Given the description of an element on the screen output the (x, y) to click on. 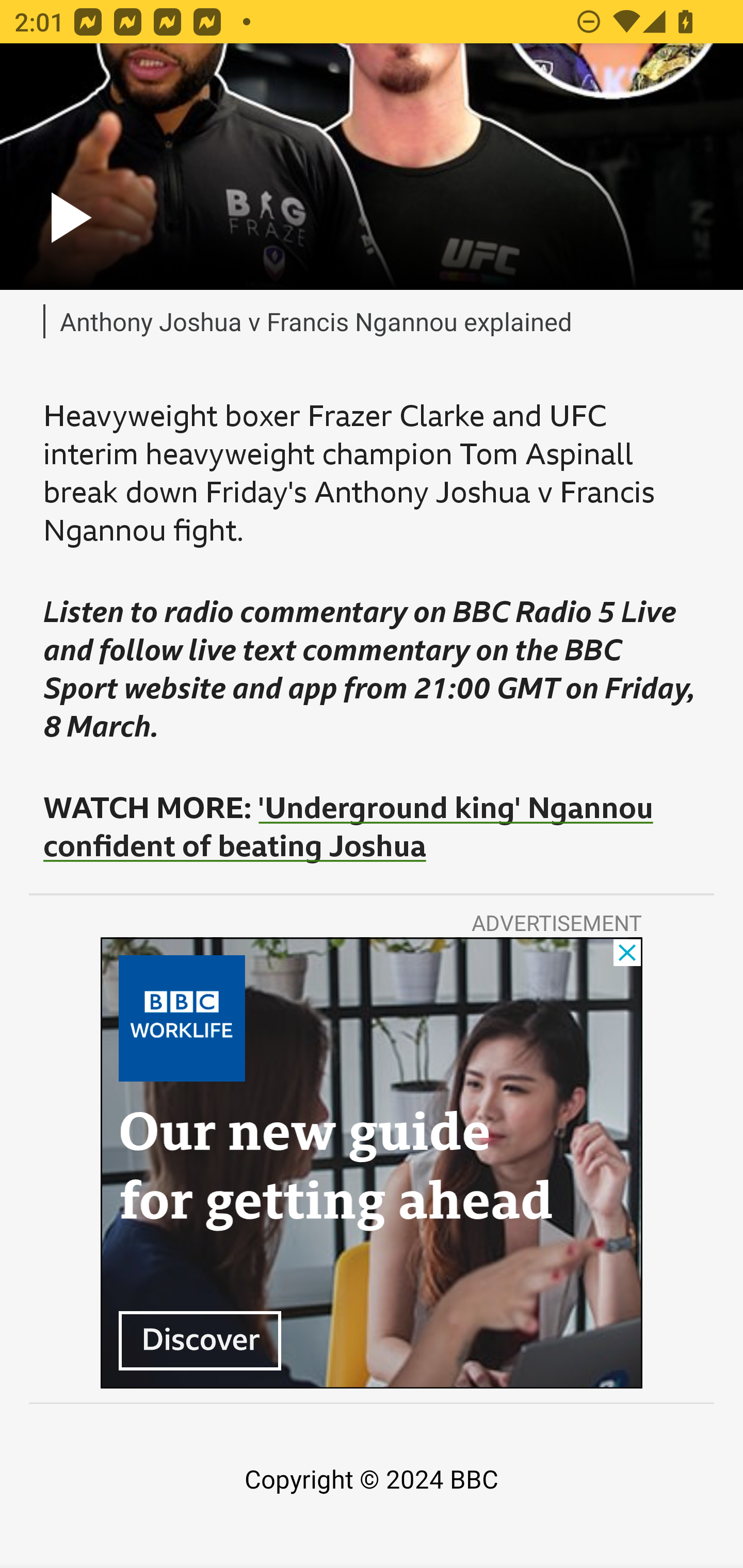
play fullscreen (371, 166)
